Given the description of an element on the screen output the (x, y) to click on. 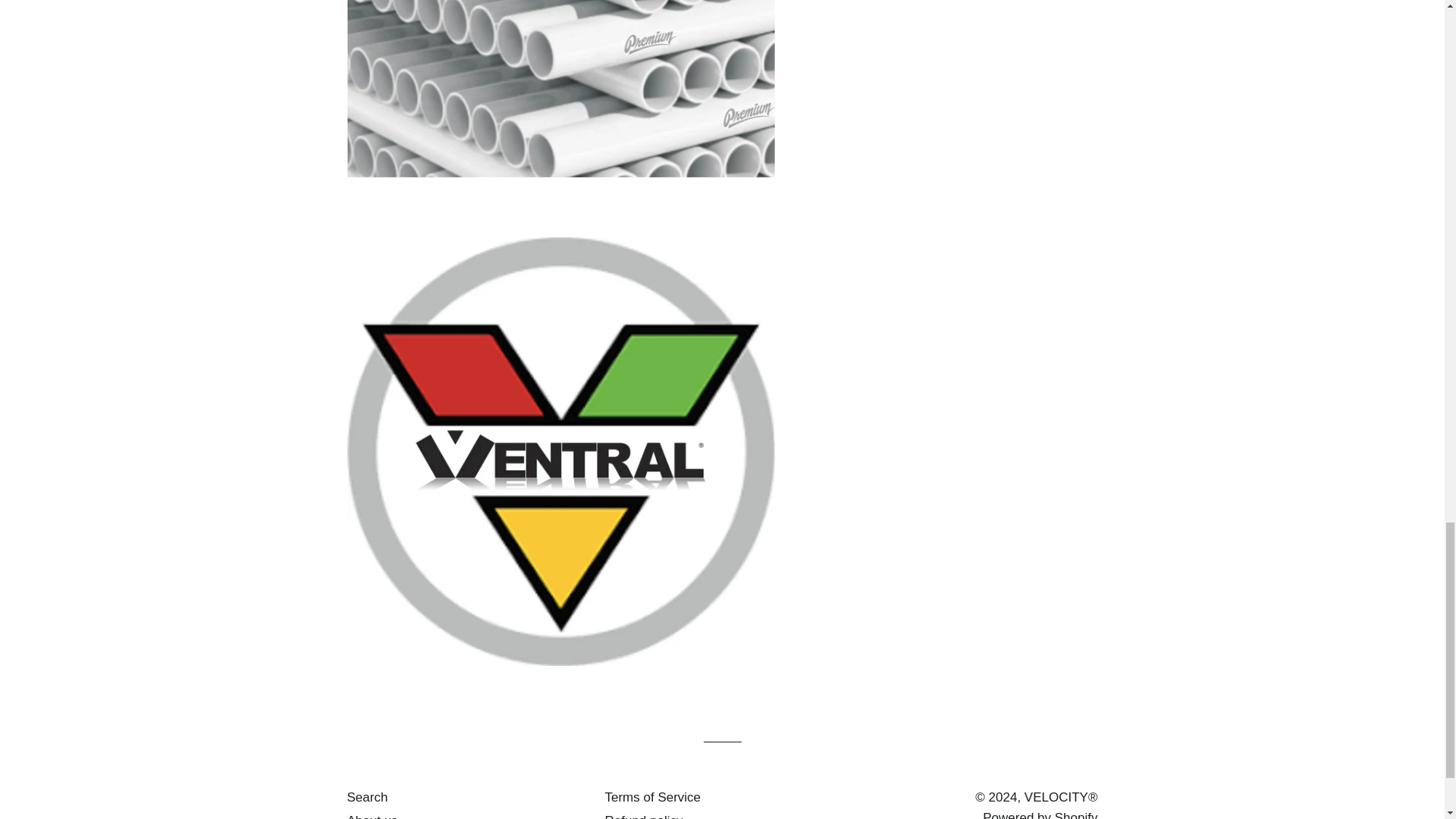
About us (372, 816)
Refund policy (643, 816)
Search (367, 797)
Powered by Shopify (1039, 814)
Terms of Service (652, 797)
